Given the description of an element on the screen output the (x, y) to click on. 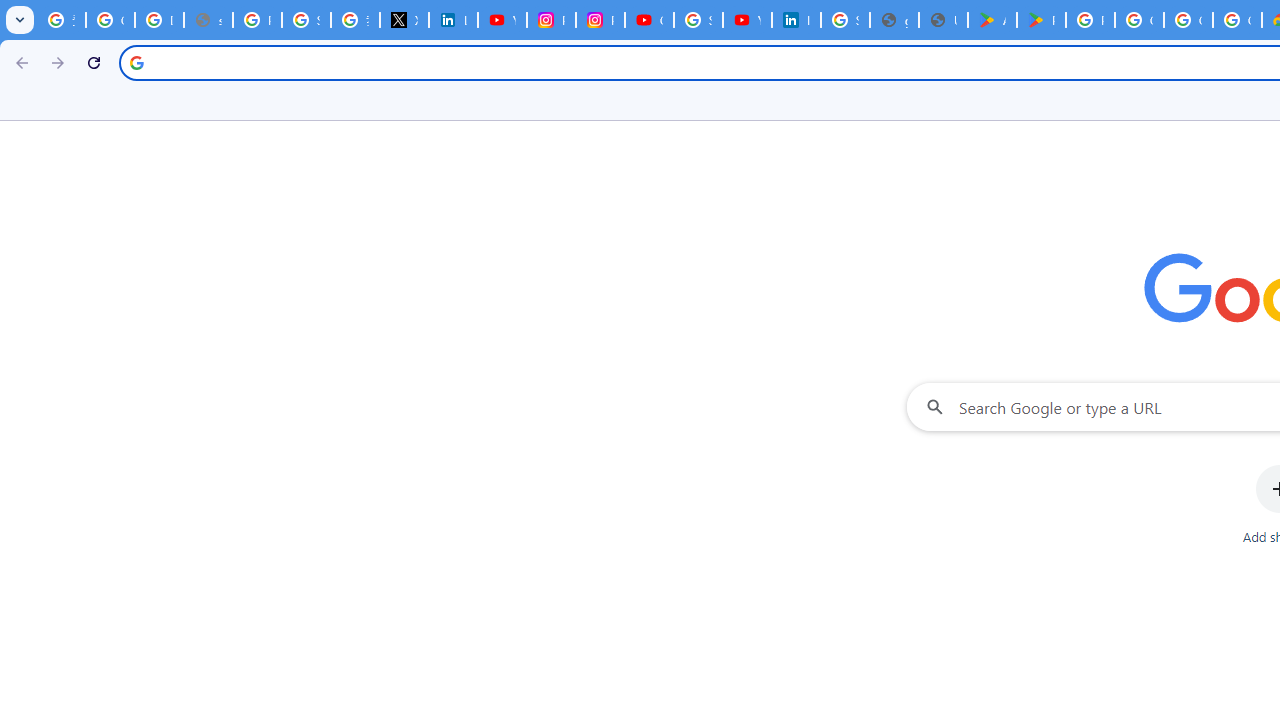
Android Apps on Google Play (992, 20)
